Given the description of an element on the screen output the (x, y) to click on. 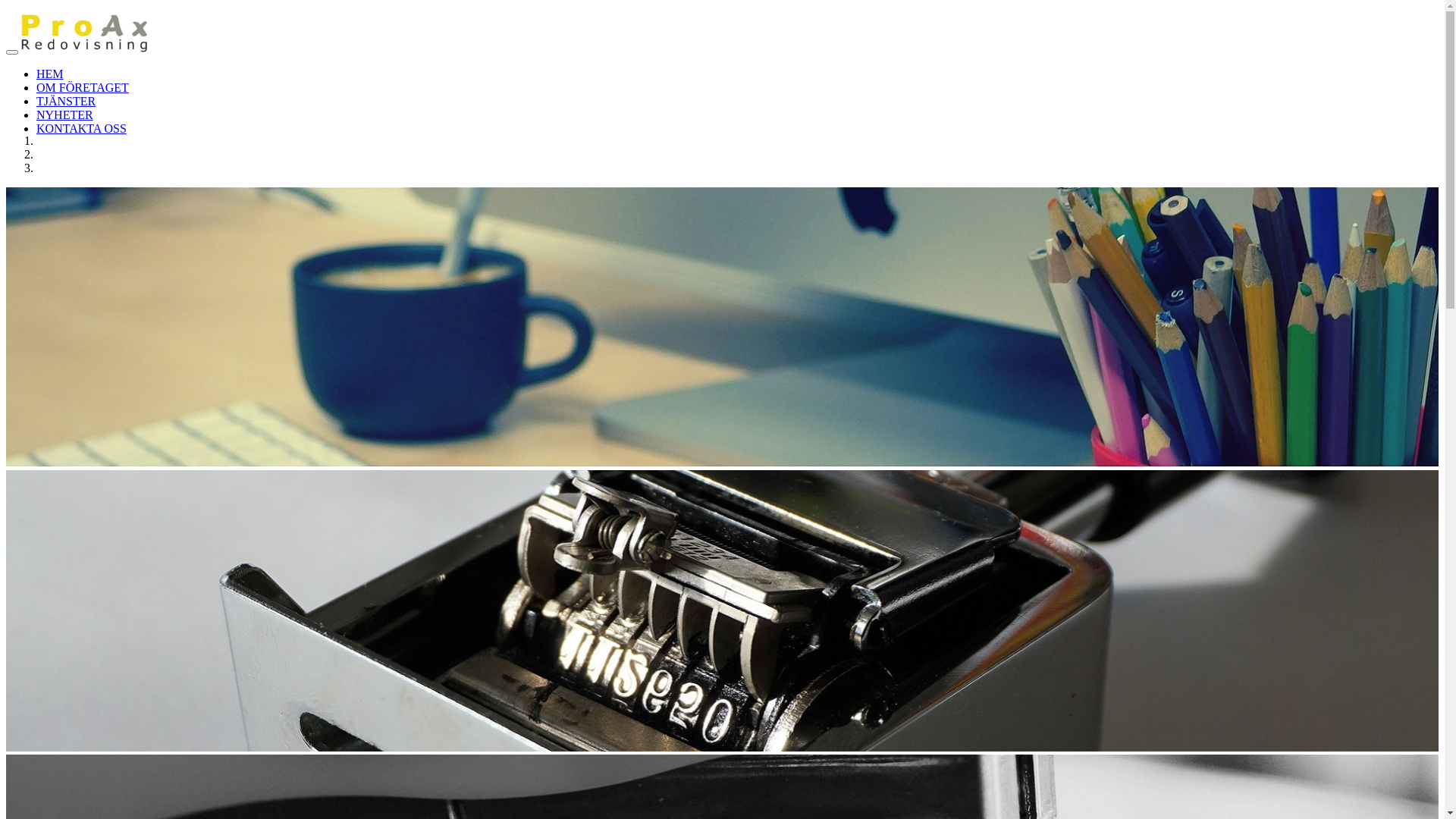
HEM Element type: text (49, 73)
NYHETER Element type: text (64, 114)
KONTAKTA OSS Element type: text (81, 128)
